Given the description of an element on the screen output the (x, y) to click on. 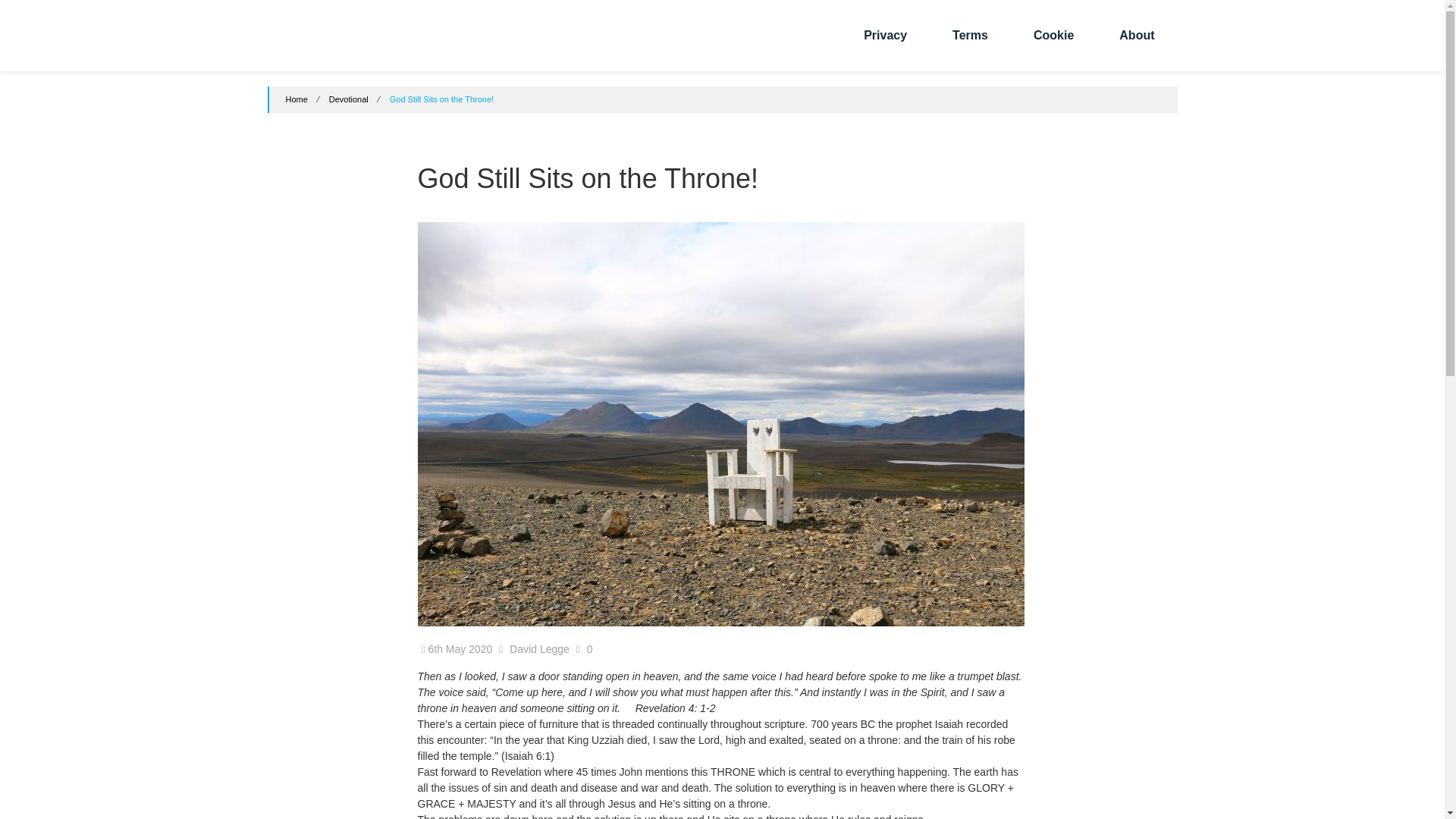
Privacy (885, 34)
Devotional (348, 99)
0 (589, 648)
Terms (970, 34)
About (1136, 34)
Home (296, 99)
Prayer Ireland (314, 41)
David Legge (539, 648)
Cookie (1053, 34)
6th May 2020 (456, 648)
David Legge (539, 648)
7:55 am (456, 648)
